Given the description of an element on the screen output the (x, y) to click on. 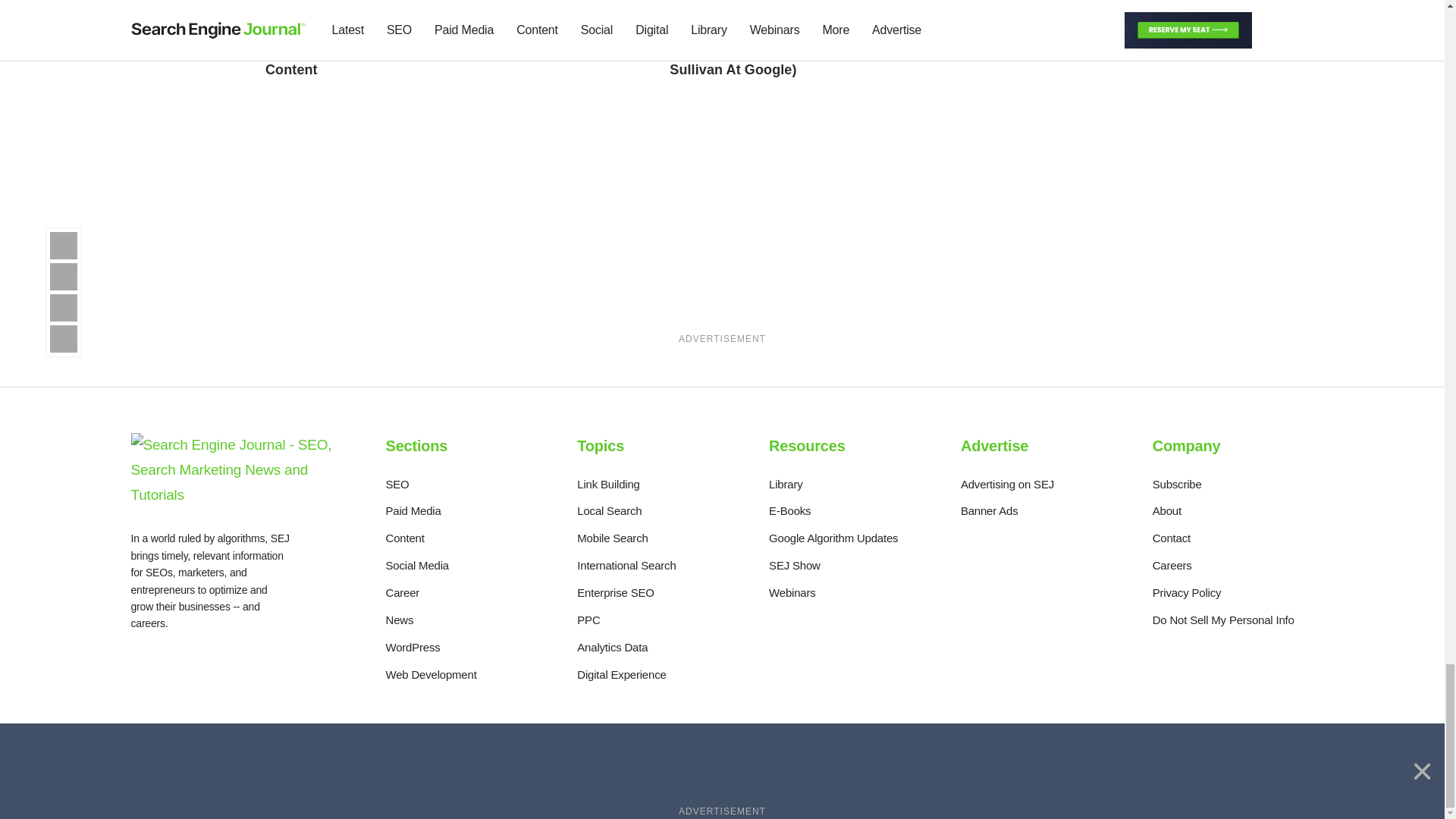
Read the Article (351, 11)
Read the Article (553, 11)
Read the Article (755, 11)
Read the Article (333, 52)
Read the Article (545, 37)
